Given the description of an element on the screen output the (x, y) to click on. 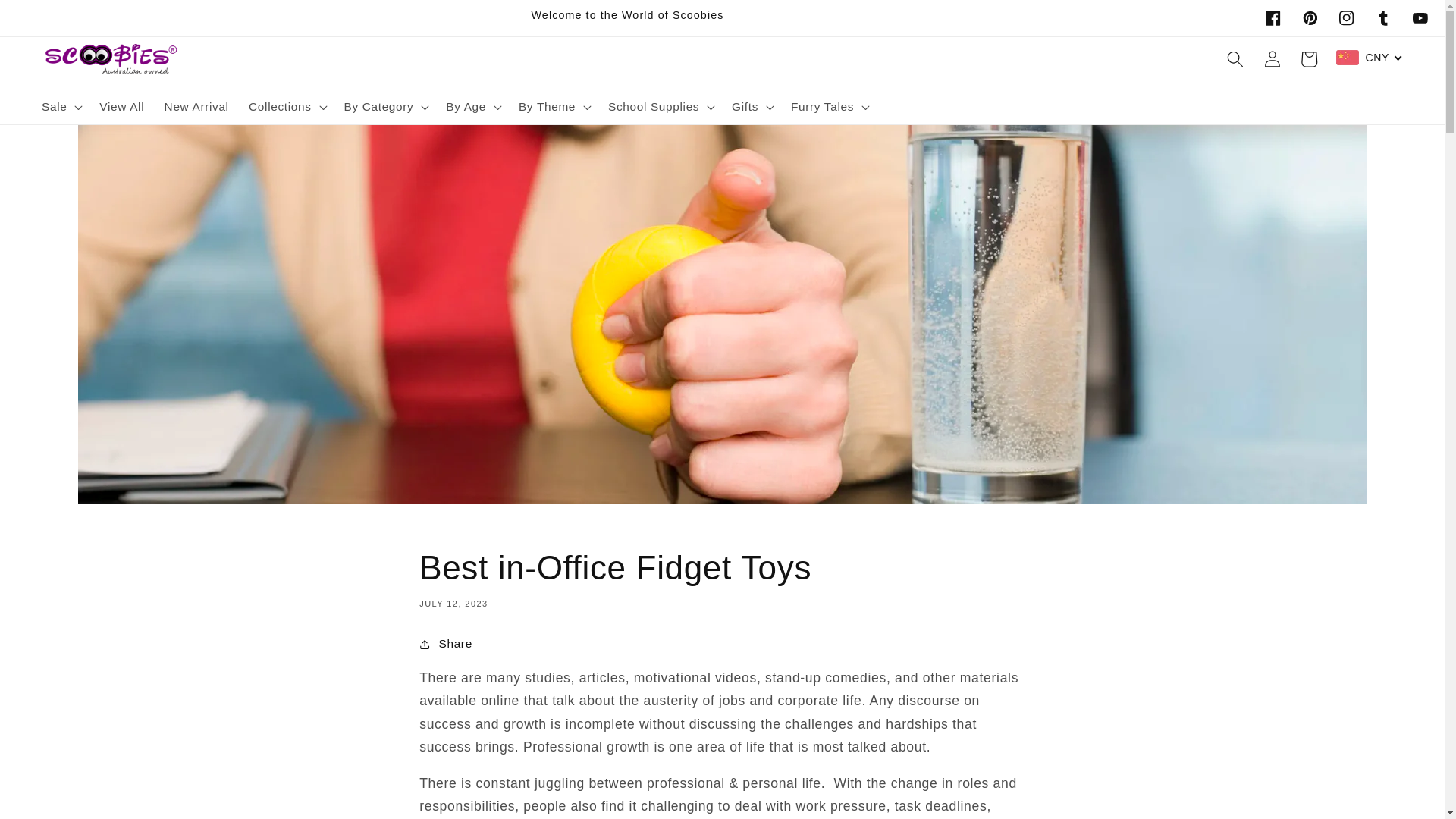
YouTube (1420, 18)
Tumblr (1382, 18)
Facebook (1273, 18)
Skip to content (50, 19)
Pinterest (1309, 18)
Instagram (1346, 18)
